Given the description of an element on the screen output the (x, y) to click on. 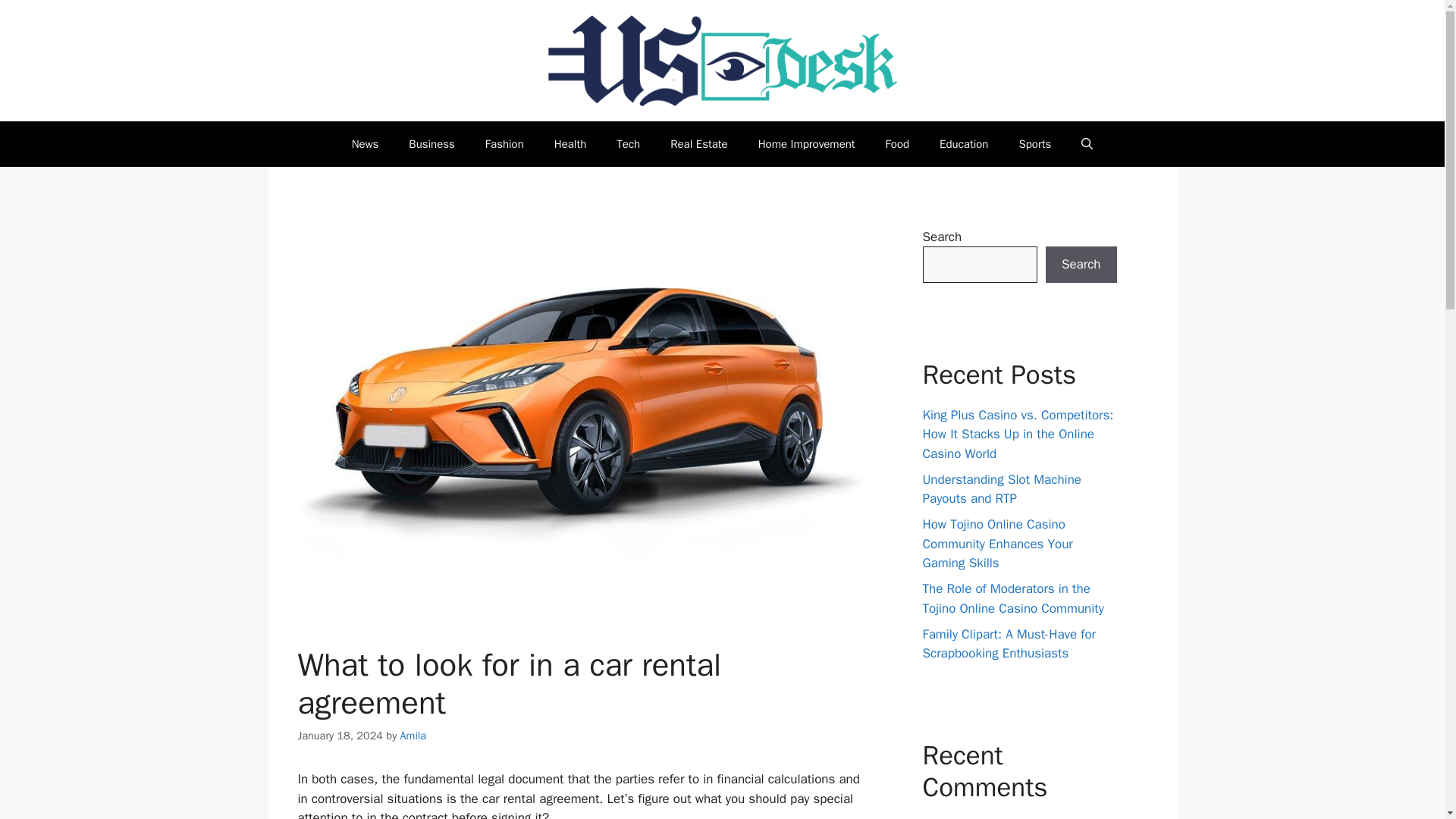
Real Estate (698, 144)
Understanding Slot Machine Payouts and RTP (1000, 488)
Search (1080, 264)
Education (963, 144)
Health (570, 144)
Business (431, 144)
Fashion (504, 144)
Tech (628, 144)
News (365, 144)
Family Clipart: A Must-Have for Scrapbooking Enthusiasts (1008, 643)
View all posts by Amila (413, 735)
Home Improvement (806, 144)
Amila (413, 735)
alexhamilton (956, 817)
